Given the description of an element on the screen output the (x, y) to click on. 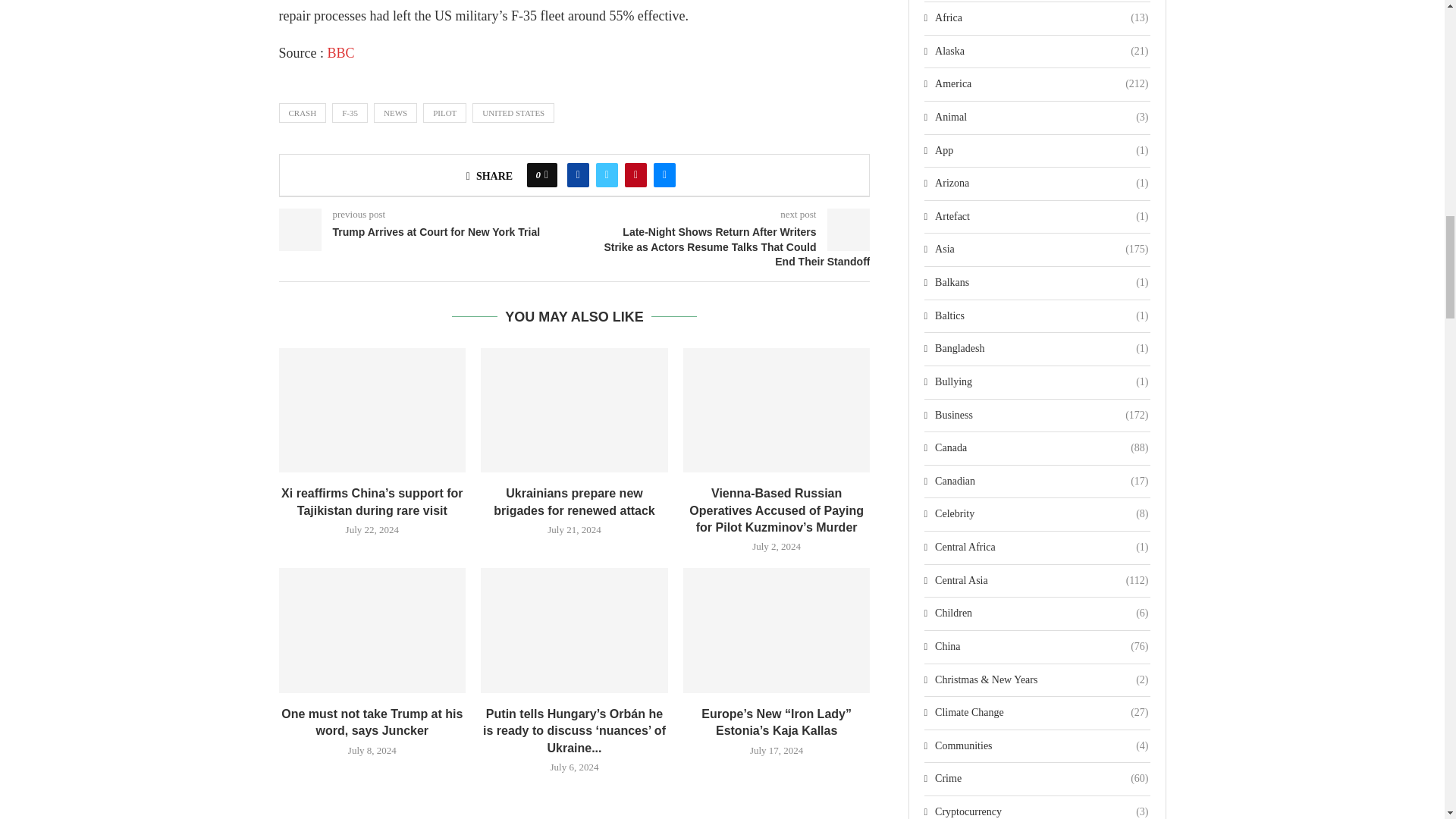
Ukrainians prepare new brigades for renewed attack (574, 410)
One must not take Trump at his word, says Juncker (372, 630)
